Given the description of an element on the screen output the (x, y) to click on. 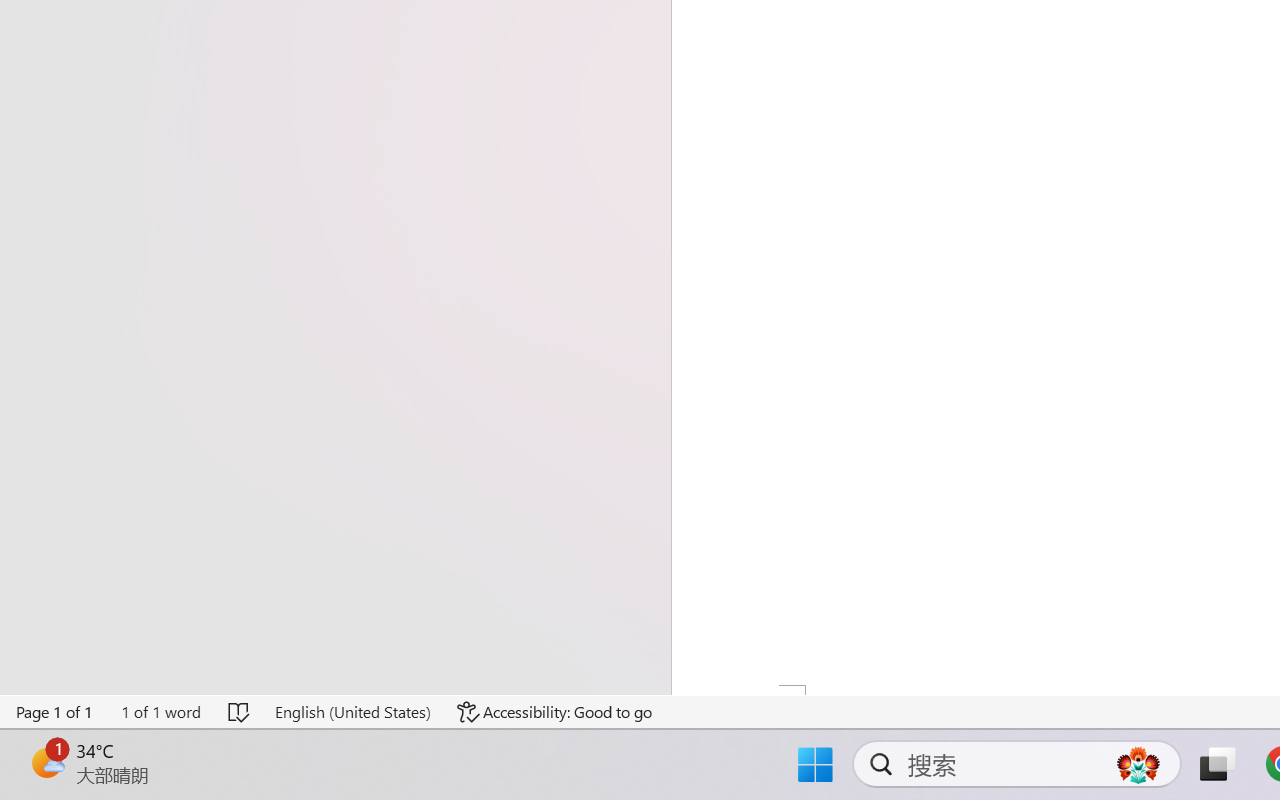
Page Number Page 1 of 1 (55, 712)
